Given the description of an element on the screen output the (x, y) to click on. 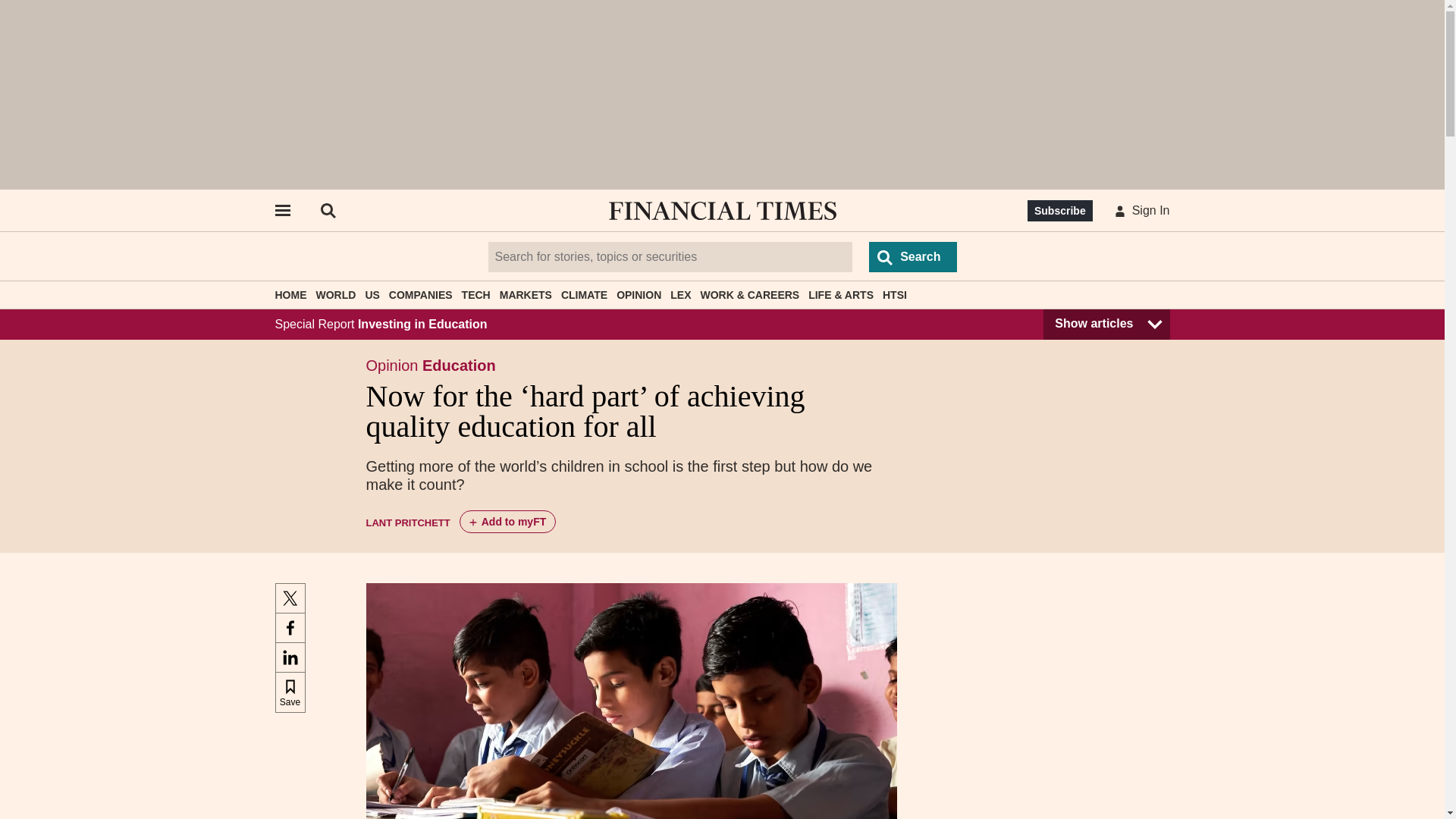
Go to Financial Times homepage (721, 210)
Add Lant Pritchett to myFT (508, 521)
WORLD (335, 294)
Subscribe (1060, 210)
Sign In (1139, 210)
Open search bar (327, 210)
Open side navigation menu (281, 210)
OPEN SIDE NAVIGATION MENU (281, 210)
Search (912, 256)
Financial Times (721, 210)
Financial Times (721, 210)
HOME (290, 294)
OPEN SEARCH BAR (327, 210)
